Given the description of an element on the screen output the (x, y) to click on. 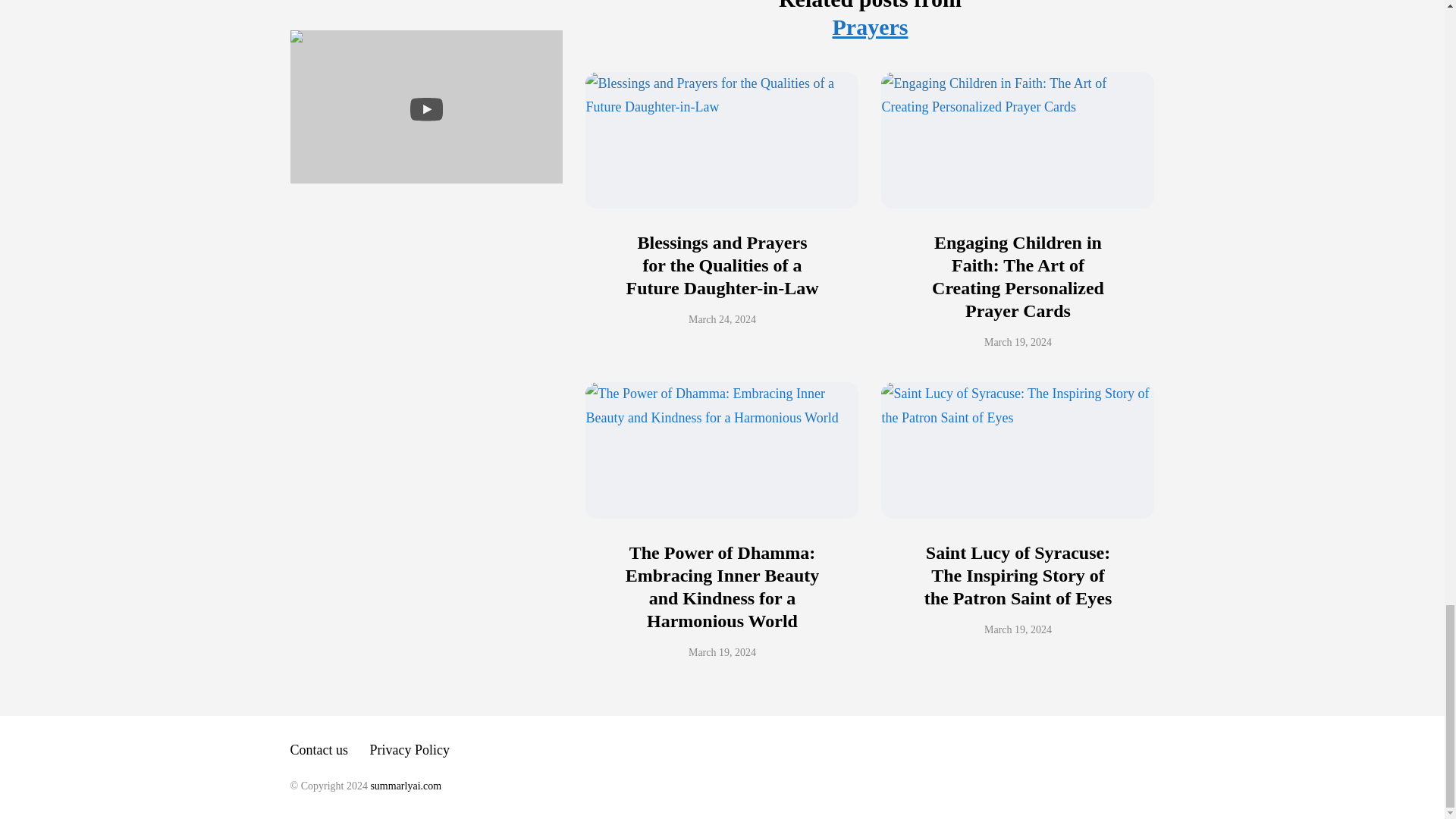
Contact us (318, 749)
Prayers (870, 26)
